Given the description of an element on the screen output the (x, y) to click on. 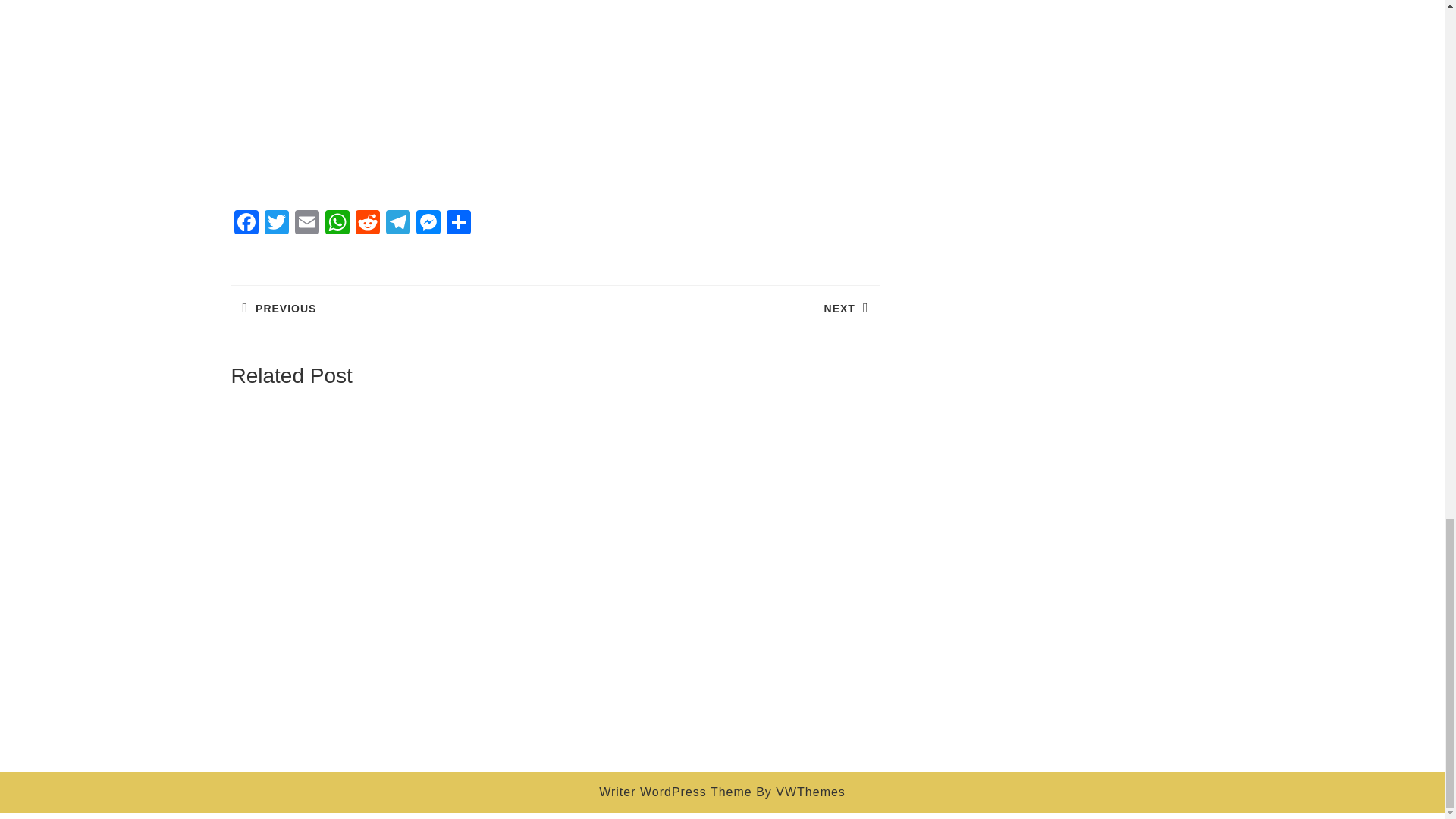
Messenger (427, 223)
Messenger (427, 223)
WhatsApp (336, 223)
Email (306, 223)
Telegram (396, 223)
Facebook (245, 223)
Linksys Range Extender Setup (554, 95)
Telegram (396, 223)
Reddit (366, 223)
Facebook (245, 223)
